Given the description of an element on the screen output the (x, y) to click on. 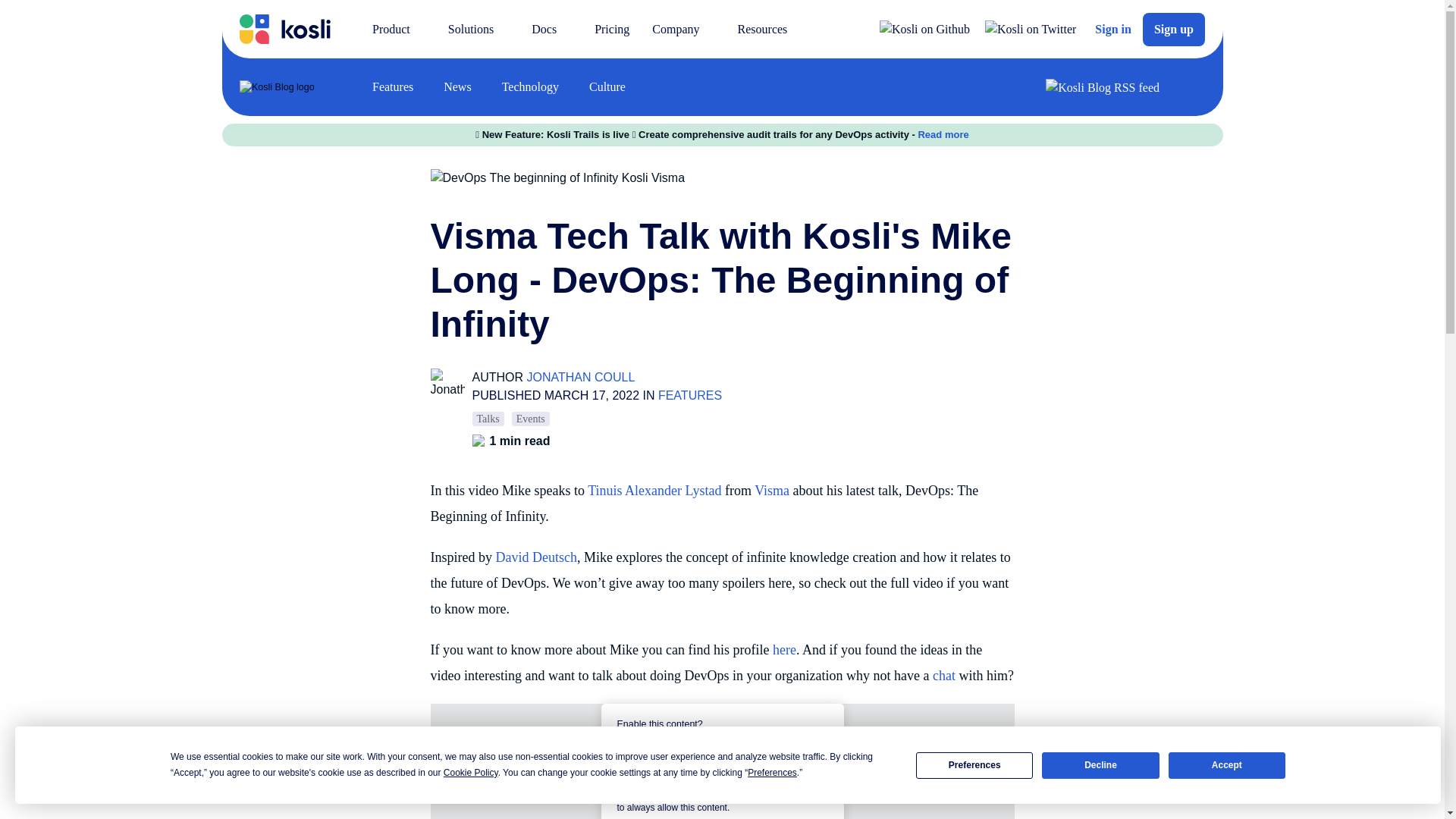
Accept (1227, 765)
Pricing (611, 29)
Company (682, 29)
Product (398, 29)
Preferences (973, 765)
Decline (1100, 765)
Docs (551, 29)
Solutions (477, 29)
